Given the description of an element on the screen output the (x, y) to click on. 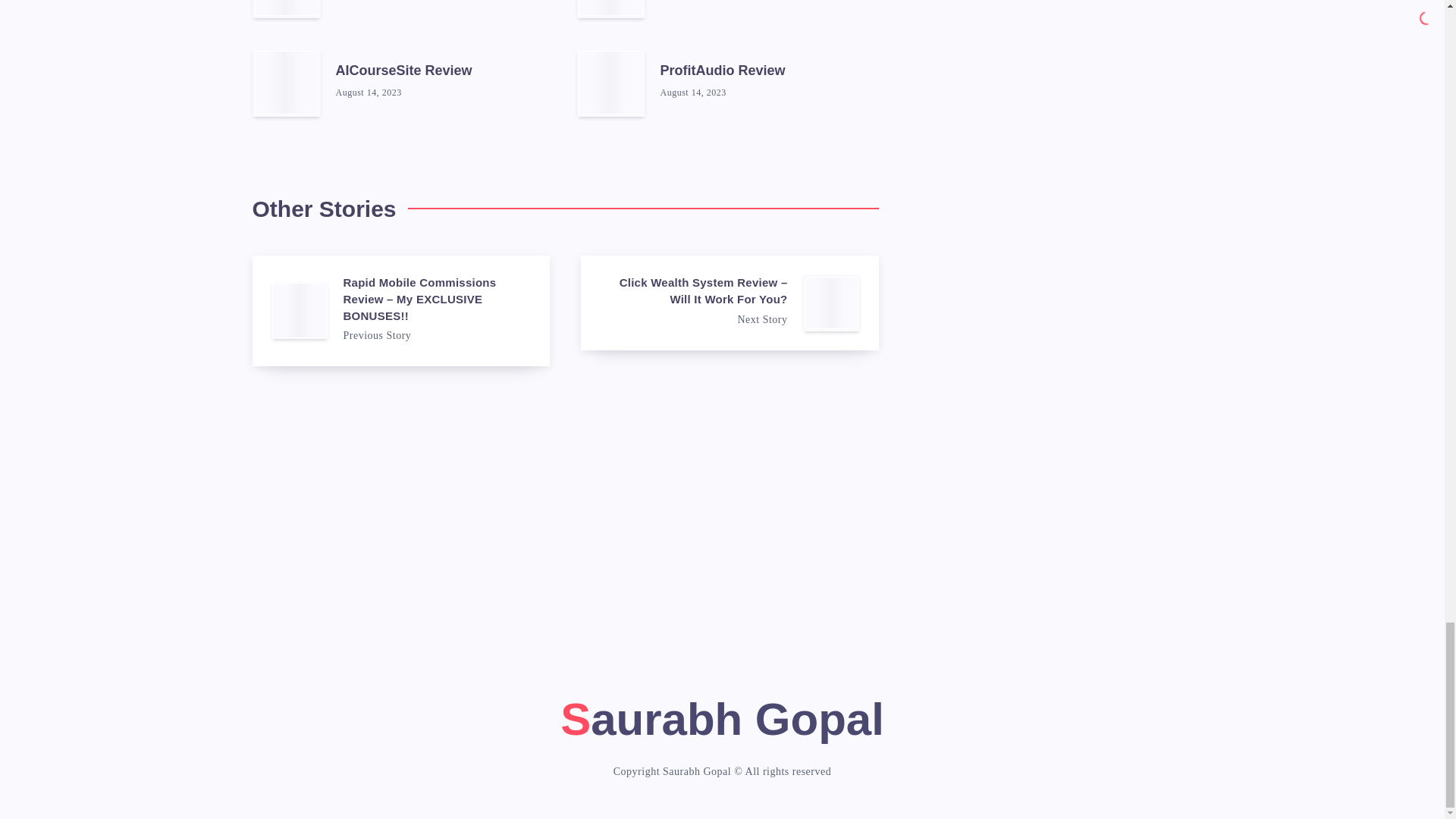
AICourseSite Review (402, 72)
ProfitAudio Review (721, 72)
